Given the description of an element on the screen output the (x, y) to click on. 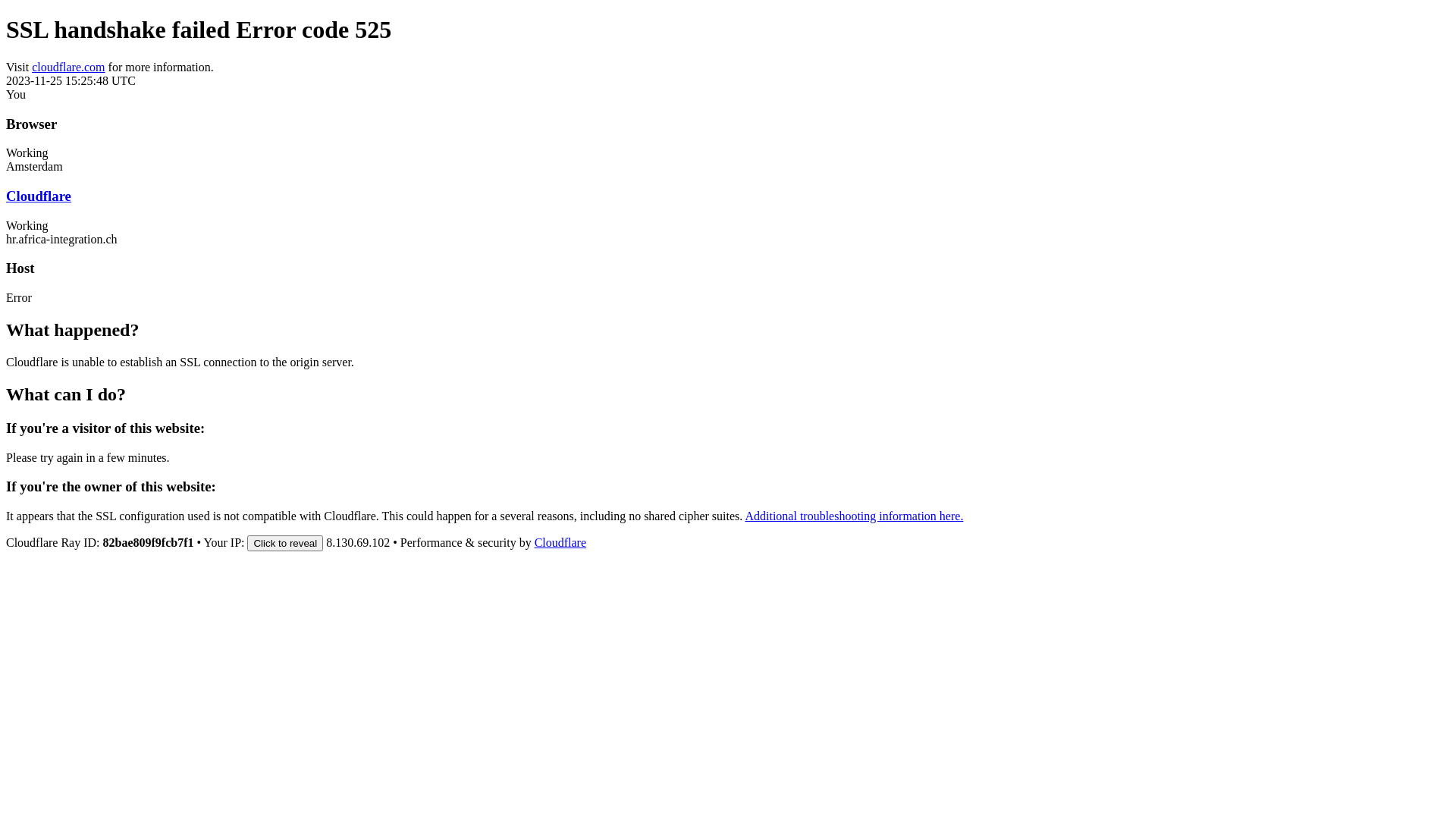
cloudflare.com Element type: text (67, 66)
Cloudflare Element type: text (560, 542)
Cloudflare Element type: text (38, 195)
Click to reveal Element type: text (285, 543)
Additional troubleshooting information here. Element type: text (853, 515)
